Given the description of an element on the screen output the (x, y) to click on. 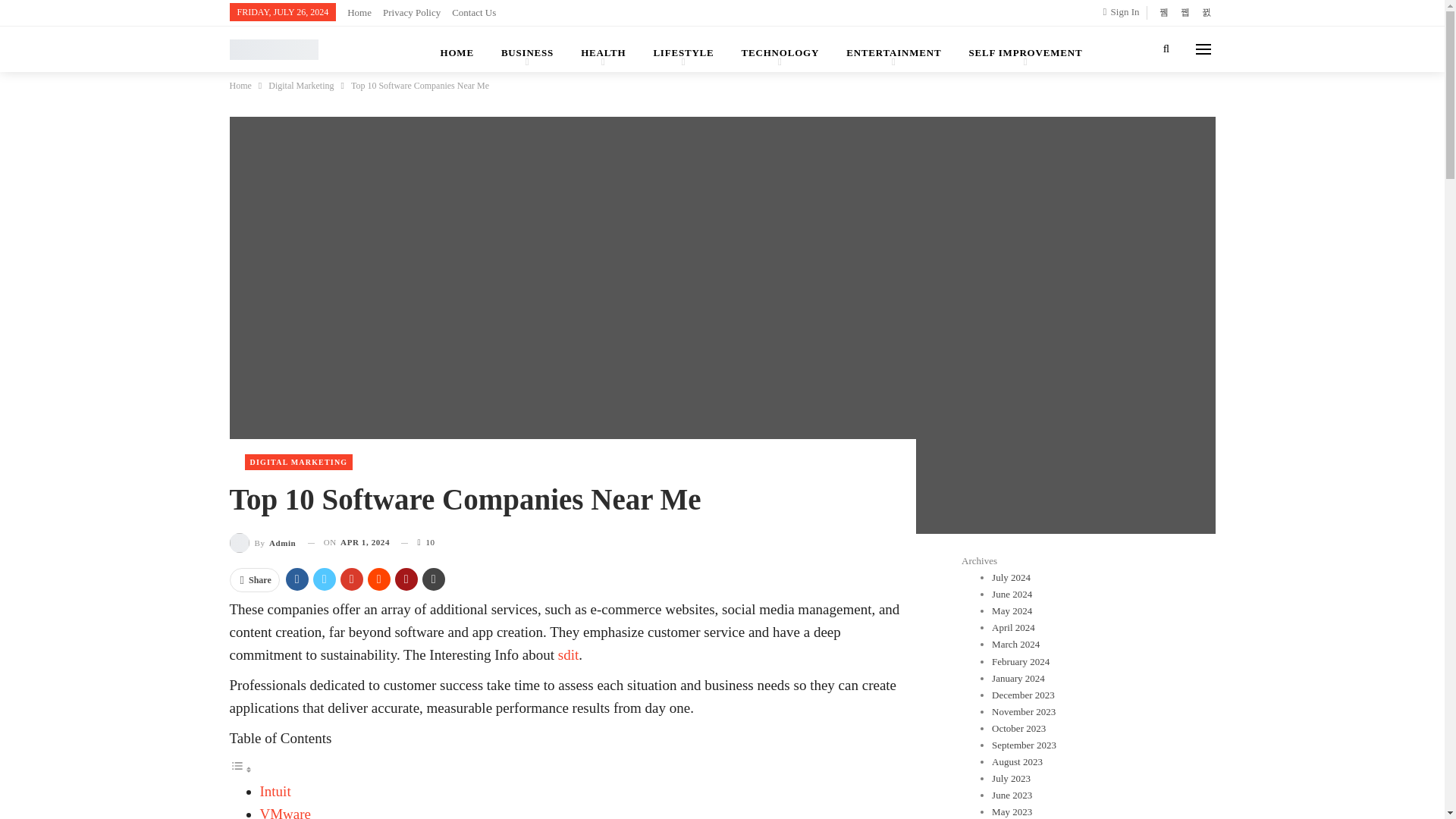
Browse Author Articles (261, 542)
TECHNOLOGY (780, 49)
HOME (456, 49)
Privacy Policy (411, 12)
Sign In (1124, 12)
HEALTH (603, 49)
BUSINESS (527, 49)
Contact Us (473, 12)
LIFESTYLE (682, 49)
Intuit (274, 790)
VMware (285, 812)
Home (359, 12)
